Given the description of an element on the screen output the (x, y) to click on. 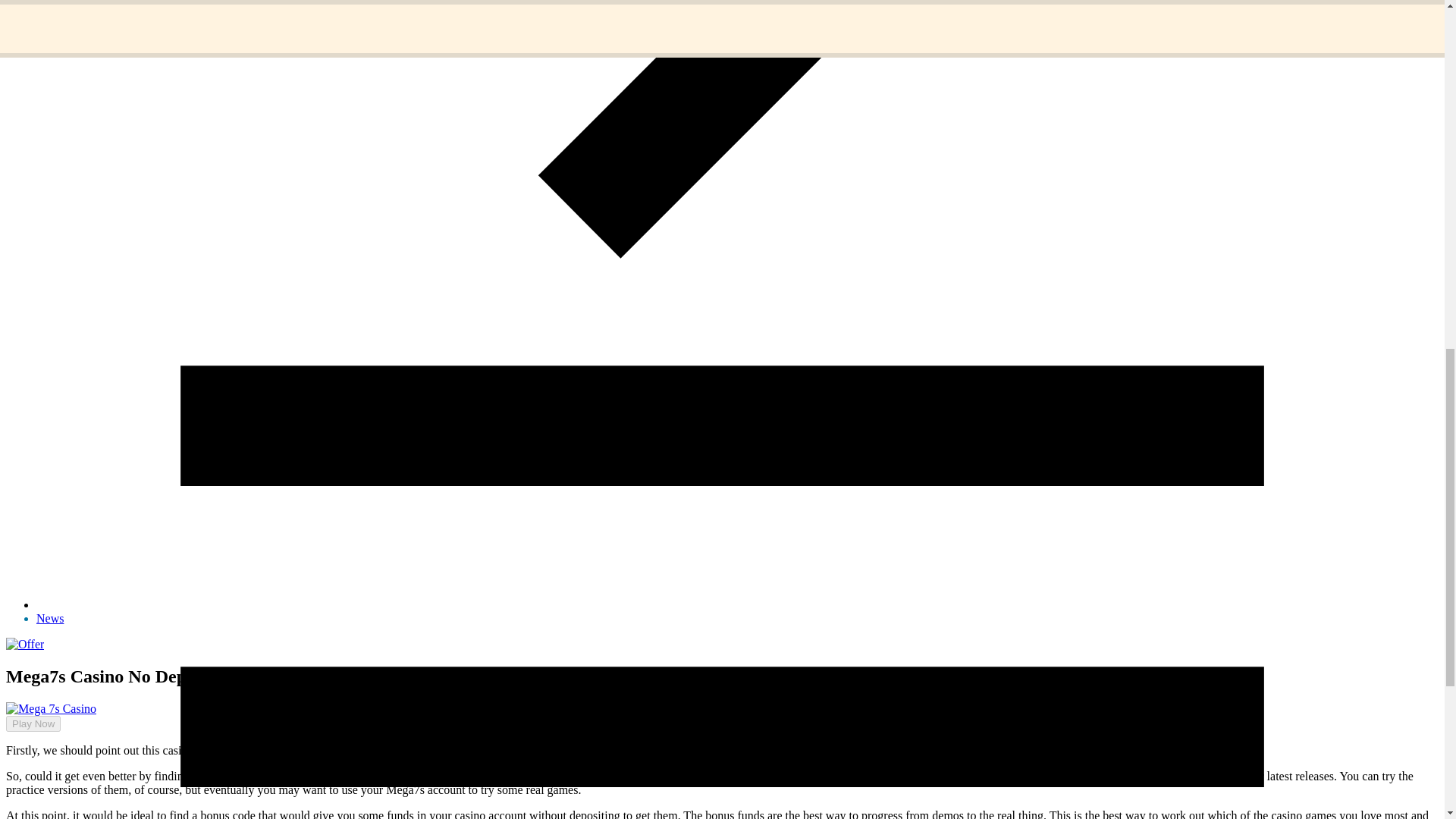
Real Time Gaming (823, 775)
Play Now (33, 723)
Play Now (27, 736)
Mega 7s Casino (487, 775)
News (50, 617)
